Given the description of an element on the screen output the (x, y) to click on. 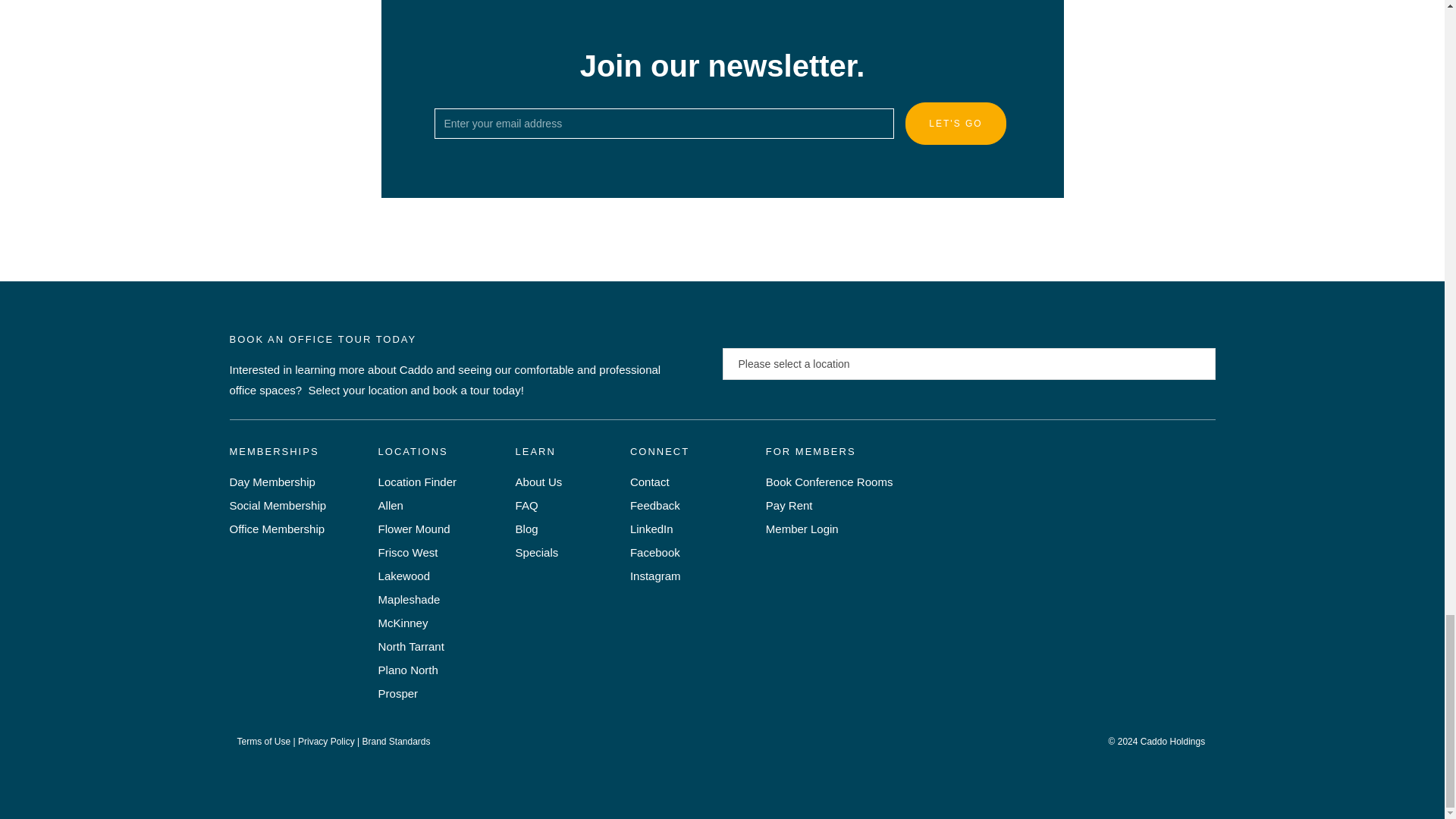
Day Membership (302, 481)
Please select a location (968, 363)
LET'S GO (955, 123)
